Given the description of an element on the screen output the (x, y) to click on. 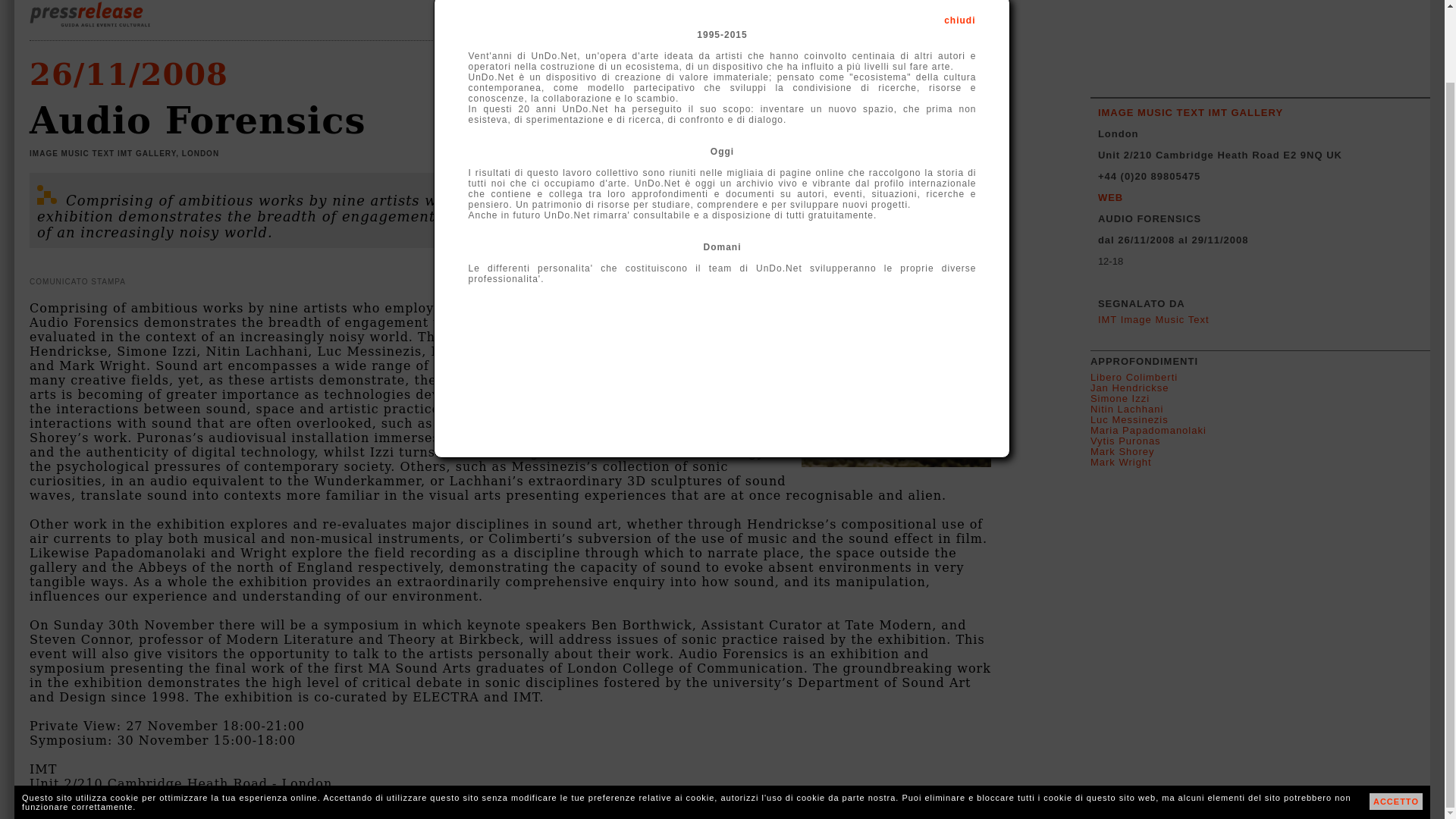
Libero Colimberti (1133, 377)
Mark Wright (1120, 461)
Simone Izzi (1120, 398)
Luc Messinezis (1129, 419)
IMAGE MUSIC TEXT IMT GALLERY (1189, 112)
Vytis Puronas (1125, 440)
Jan Hendrickse (1129, 387)
IMT Image Music Text (1153, 319)
Maria Papadomanolaki (1148, 430)
Mark Shorey (1122, 451)
